Given the description of an element on the screen output the (x, y) to click on. 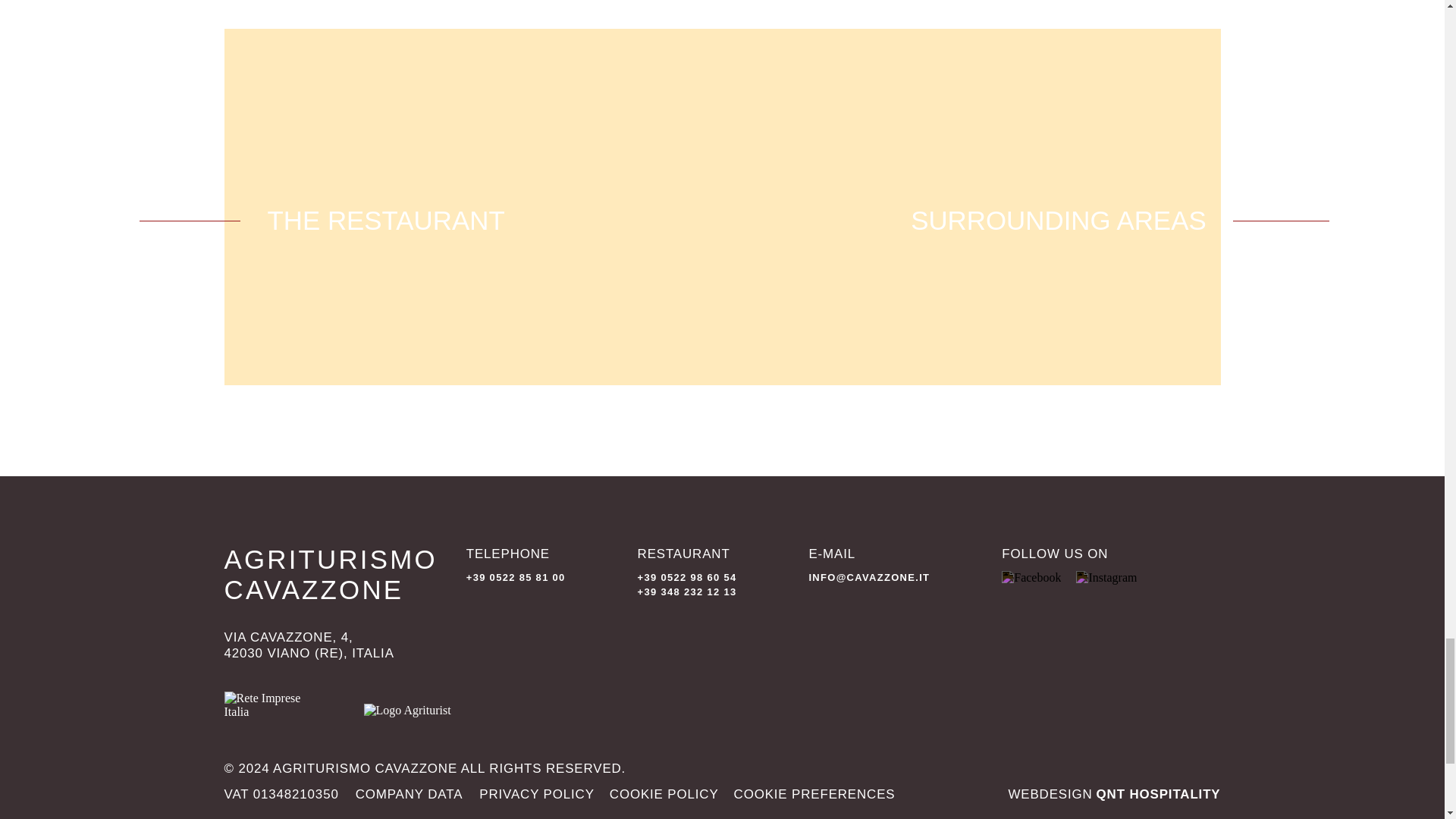
Privacy Policy (536, 794)
Cookie Policy (664, 794)
